Given the description of an element on the screen output the (x, y) to click on. 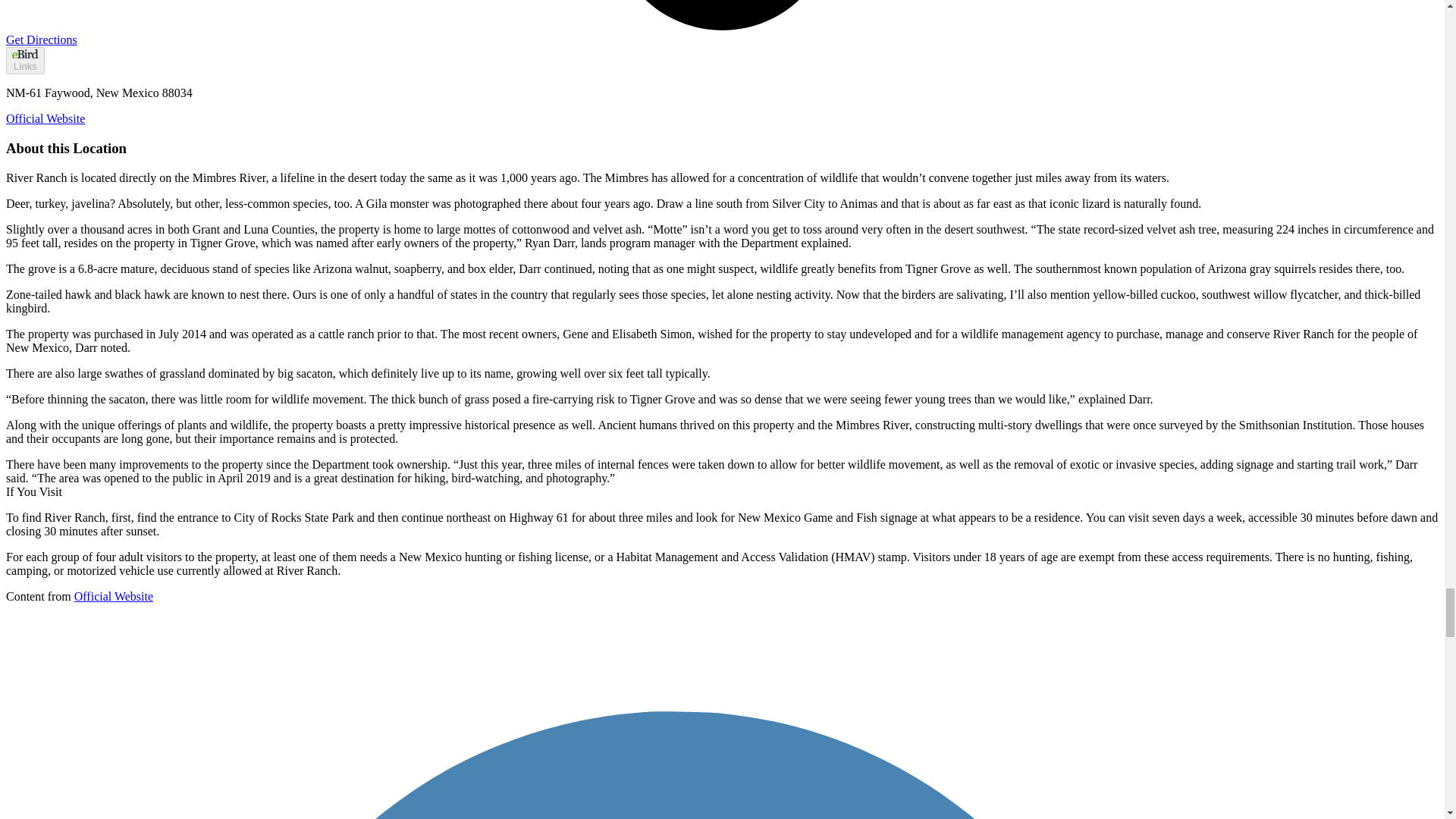
eBird Links (25, 60)
Official Website (113, 595)
eBird (24, 53)
Official Website (44, 118)
